Given the description of an element on the screen output the (x, y) to click on. 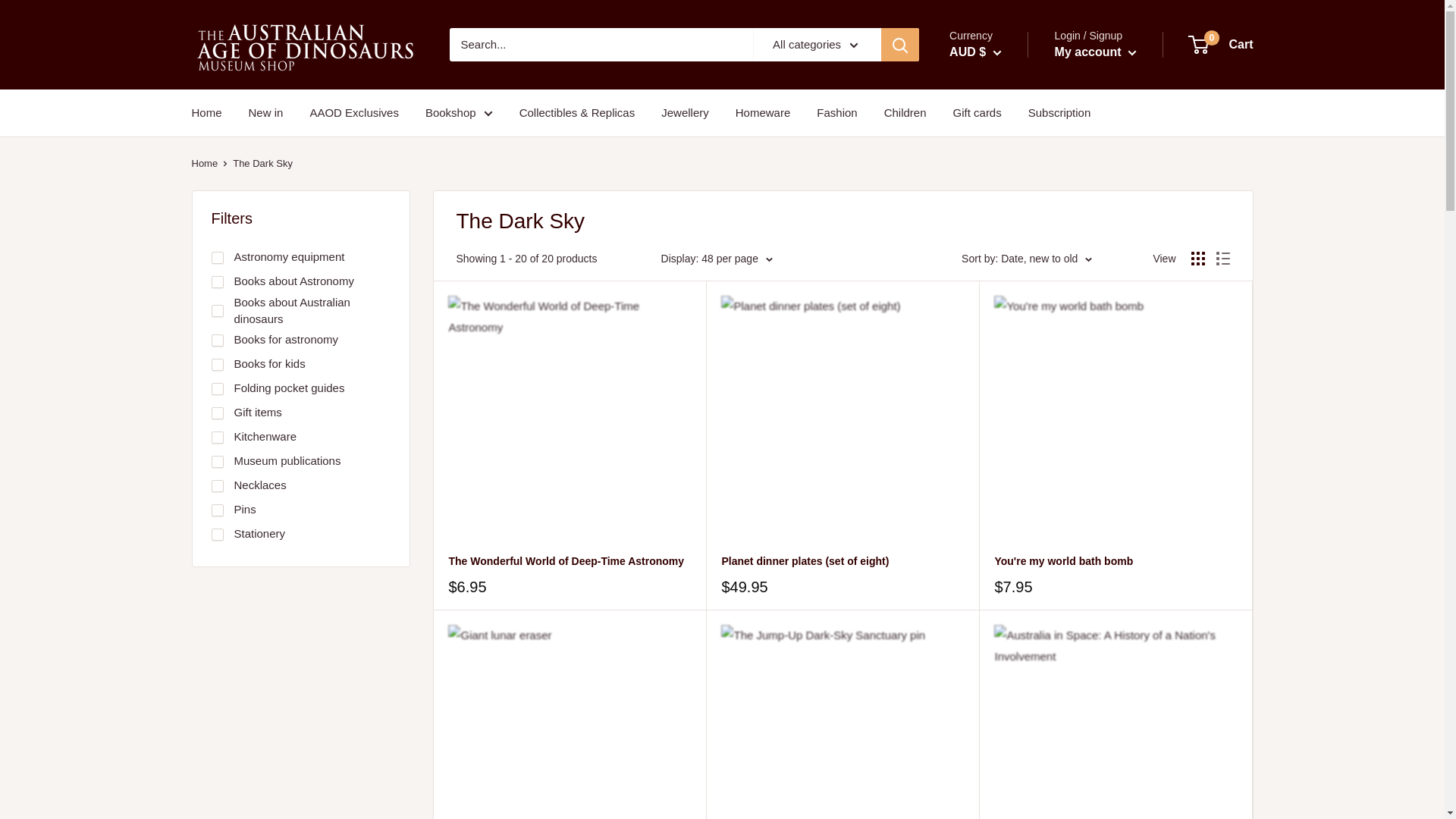
BSD (997, 549)
on (216, 340)
on (216, 437)
on (216, 257)
ANG (997, 307)
on (216, 413)
ALL (997, 264)
AZN (997, 373)
BAM (997, 395)
AWG (997, 351)
